Given the description of an element on the screen output the (x, y) to click on. 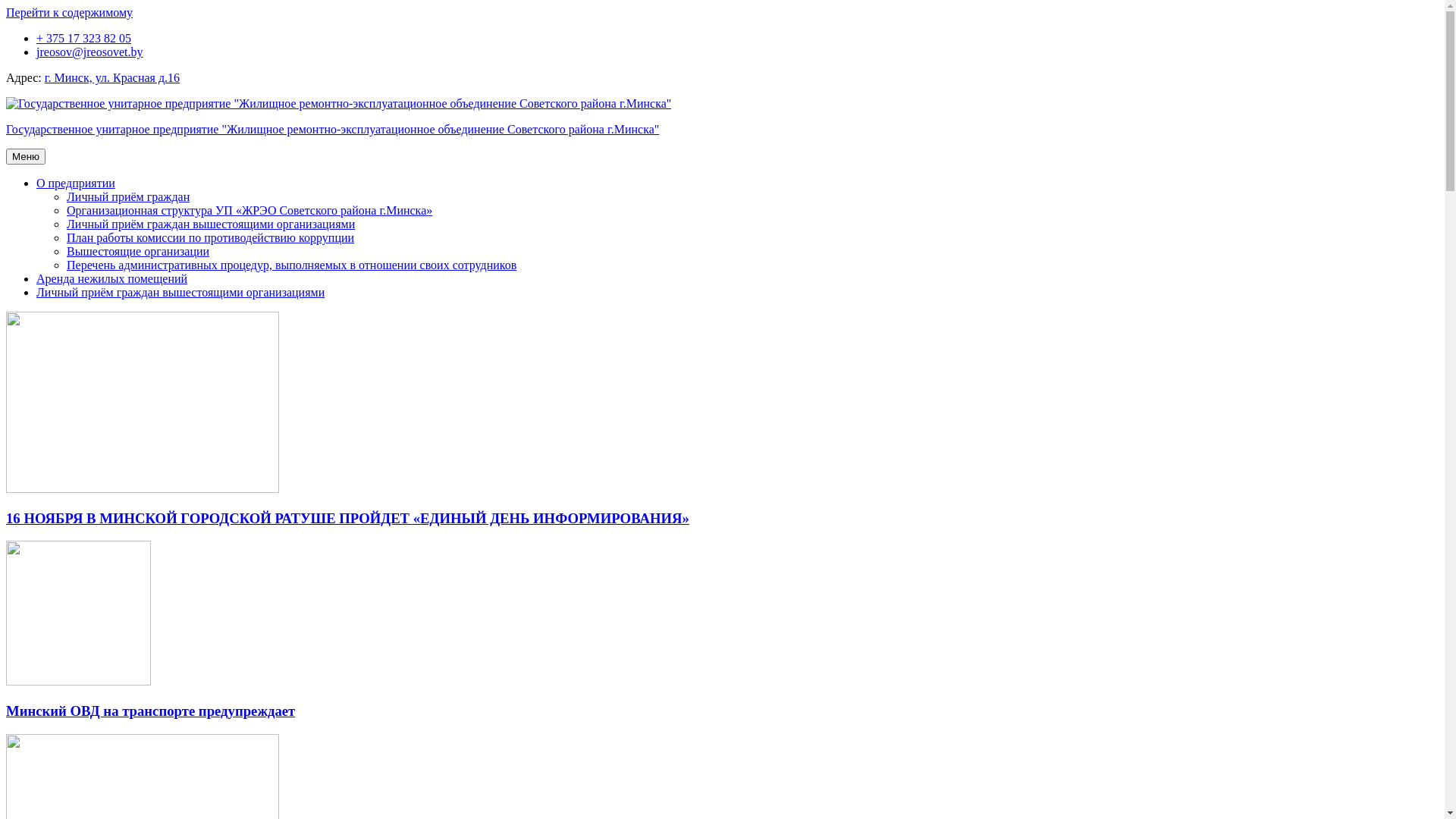
+ 375 17 323 82 05 Element type: text (83, 37)
jreosov@jreosovet.by Element type: text (89, 51)
